Given the description of an element on the screen output the (x, y) to click on. 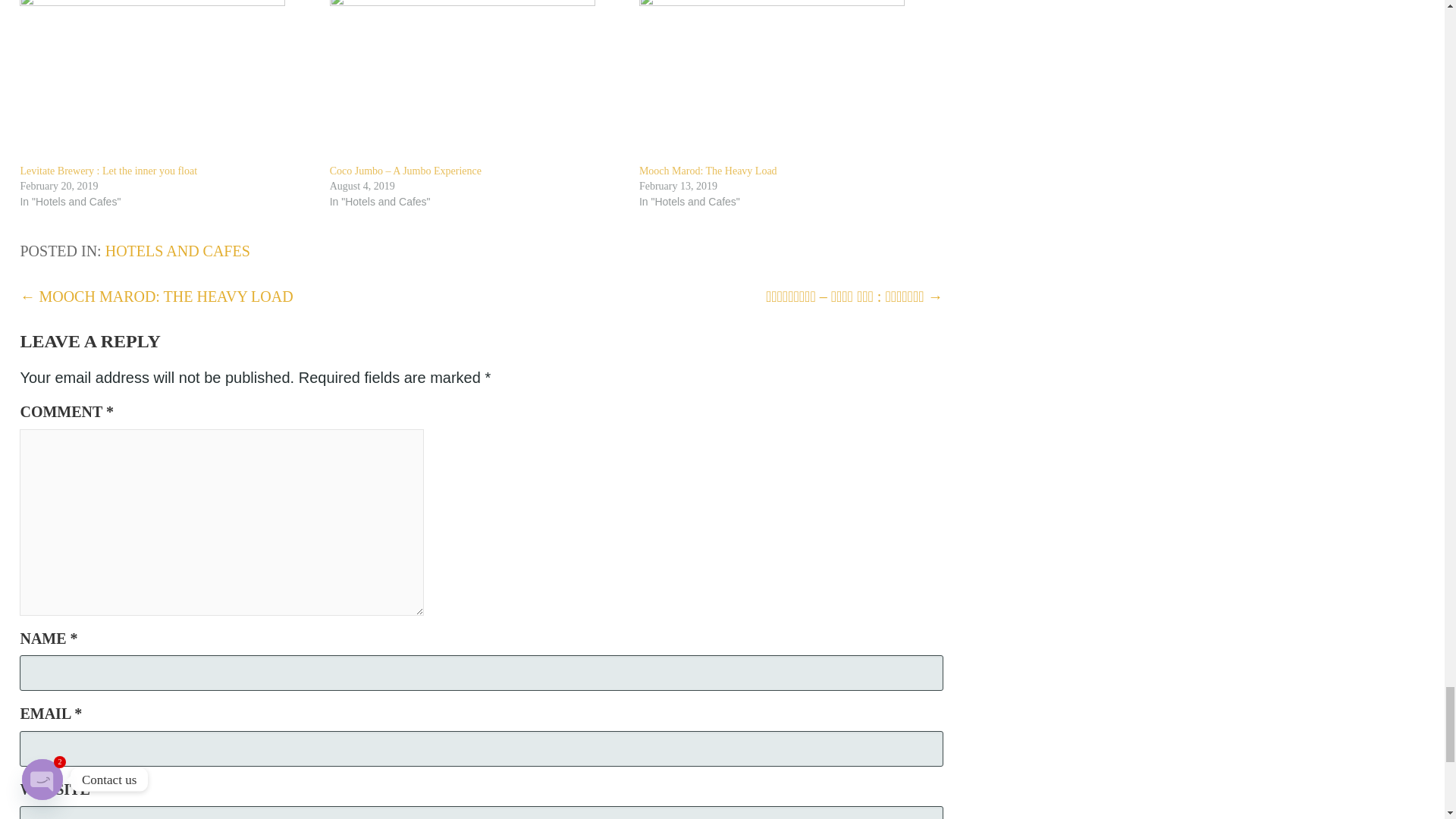
HOTELS AND CAFES (177, 250)
Mooch Marod: The Heavy Load (708, 170)
Levitate Brewery : Let the inner you float (108, 170)
Levitate Brewery : Let the inner you float (167, 70)
